Given the description of an element on the screen output the (x, y) to click on. 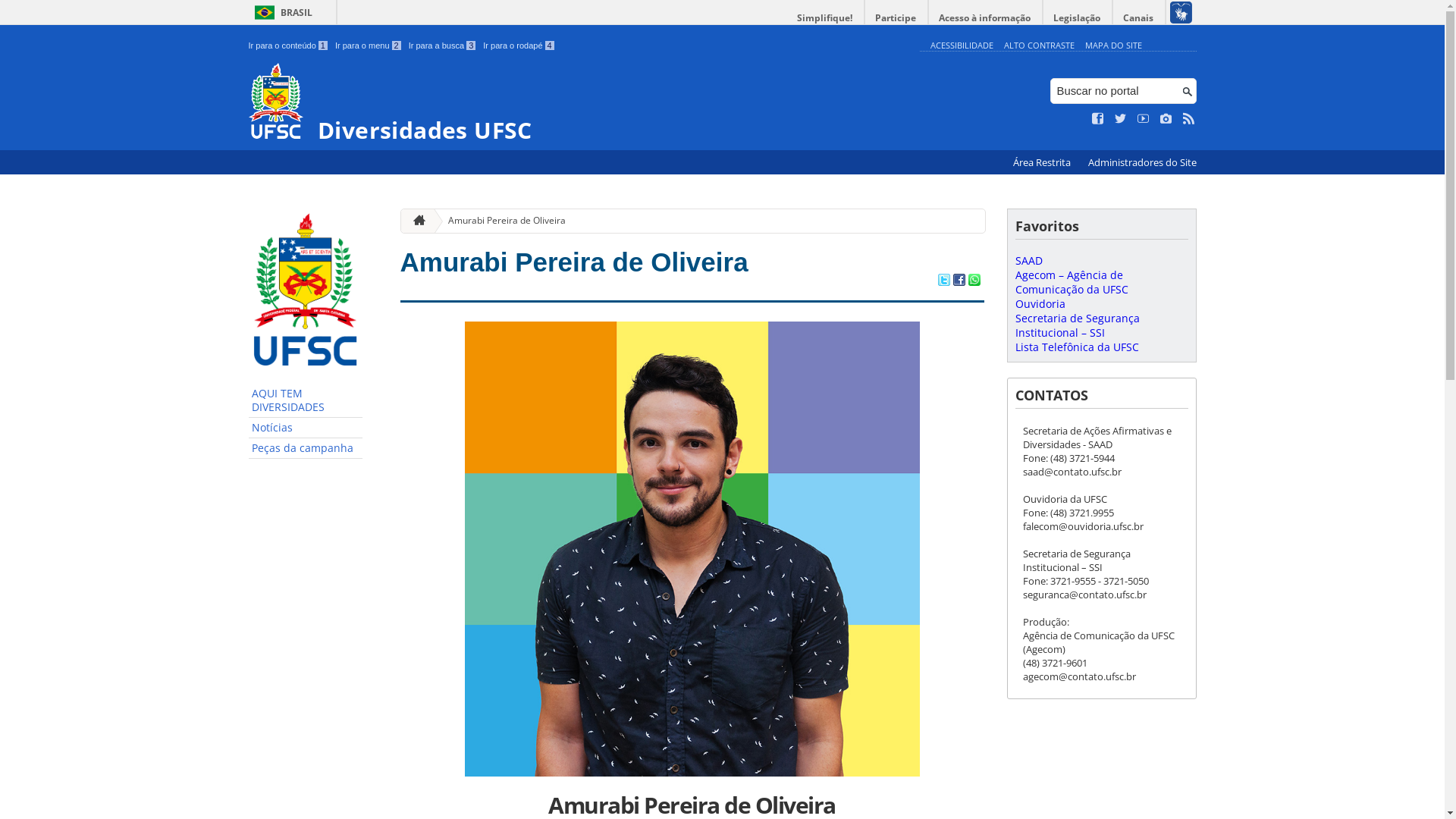
Simplifique! Element type: text (825, 18)
Curta no Facebook Element type: hover (1098, 118)
AQUI TEM DIVERSIDADES Element type: text (305, 400)
Compartilhar no Facebook Element type: hover (958, 280)
Ir para o menu 2 Element type: text (368, 45)
MAPA DO SITE Element type: text (1112, 44)
Siga no Twitter Element type: hover (1120, 118)
Compartilhar no WhatsApp Element type: hover (973, 280)
Veja no Instagram Element type: hover (1166, 118)
Canais Element type: text (1138, 18)
Ouvidoria Element type: text (1039, 303)
Participe Element type: text (895, 18)
Compartilhar no Twitter Element type: hover (943, 280)
SAAD Element type: text (1027, 260)
Ir para a busca 3 Element type: text (442, 45)
BRASIL Element type: text (280, 12)
ALTO CONTRASTE Element type: text (1039, 44)
Administradores do Site Element type: text (1141, 162)
Amurabi Pereira de Oliveira Element type: text (500, 220)
Diversidades UFSC Element type: text (580, 102)
ACESSIBILIDADE Element type: text (960, 44)
Amurabi Pereira de Oliveira Element type: text (574, 261)
